Given the description of an element on the screen output the (x, y) to click on. 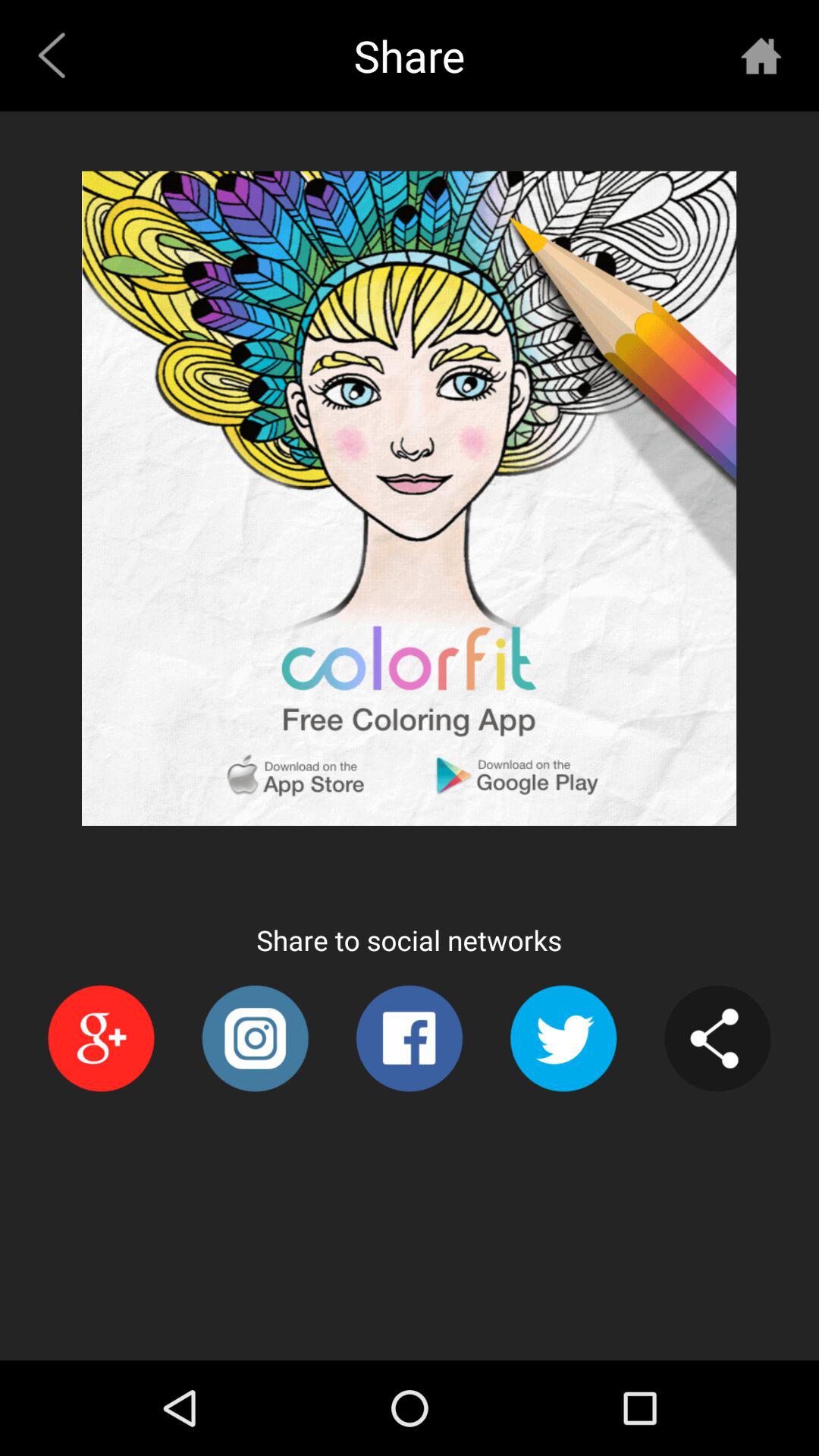
turn on item next to the share icon (761, 55)
